Given the description of an element on the screen output the (x, y) to click on. 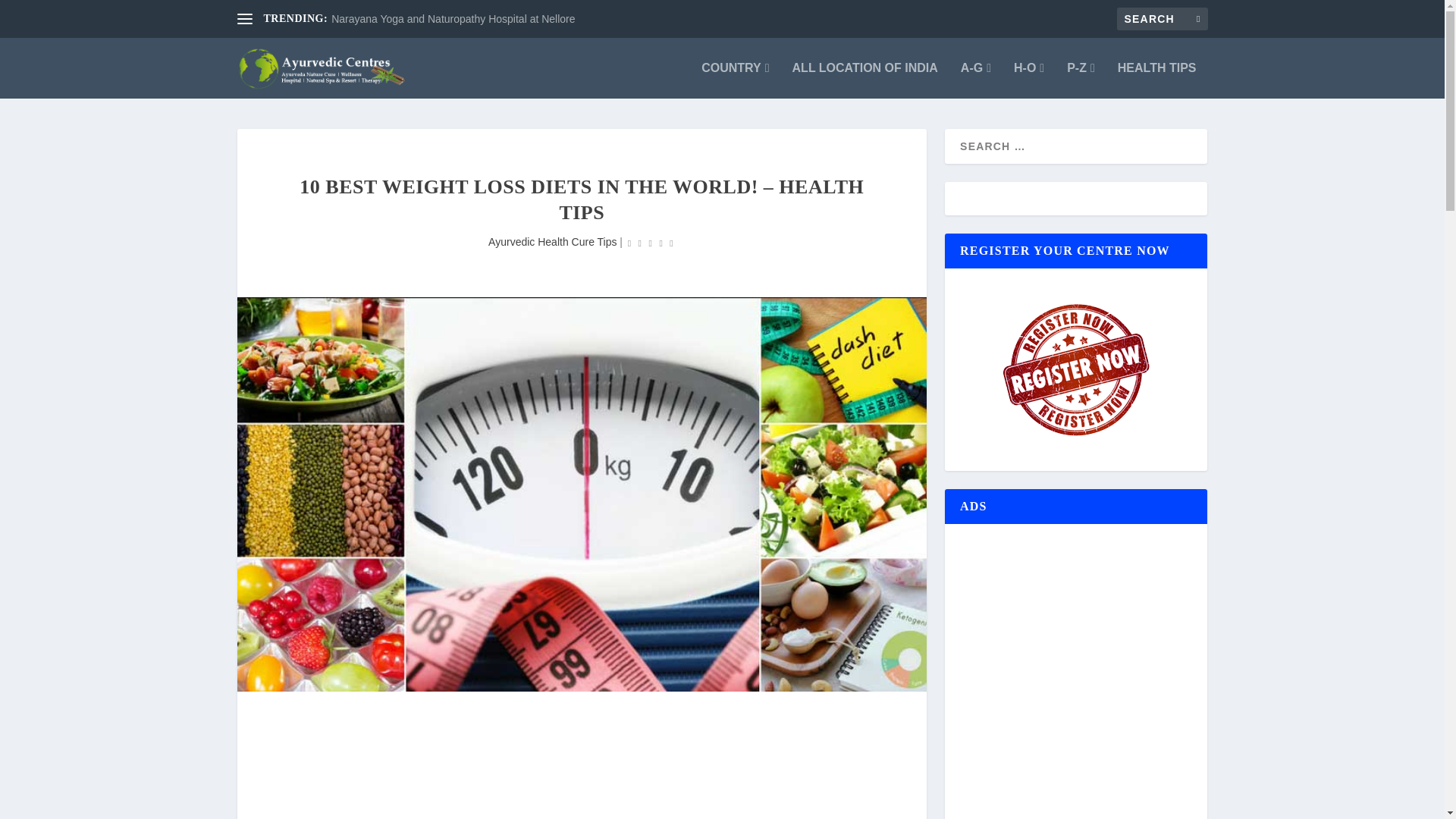
Rating: 0.00 (650, 242)
ALL LOCATION OF INDIA (864, 80)
Search for: (1161, 18)
COUNTRY (734, 80)
Advertisement (580, 770)
Narayana Yoga and Naturopathy Hospital at Nellore (453, 19)
